Given the description of an element on the screen output the (x, y) to click on. 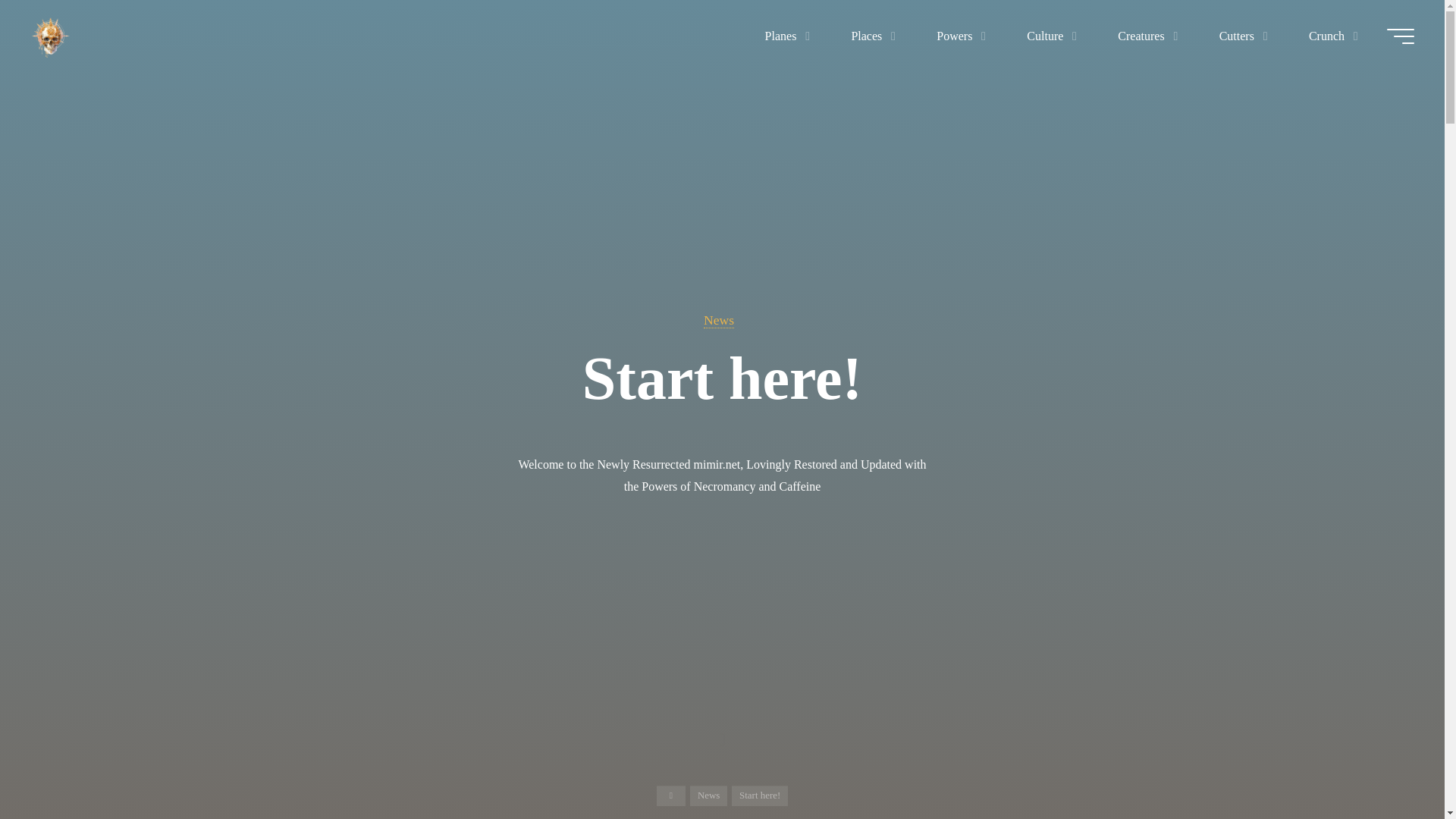
Home (670, 795)
Planescape: I am the Mimir (49, 35)
Read more (721, 724)
